Given the description of an element on the screen output the (x, y) to click on. 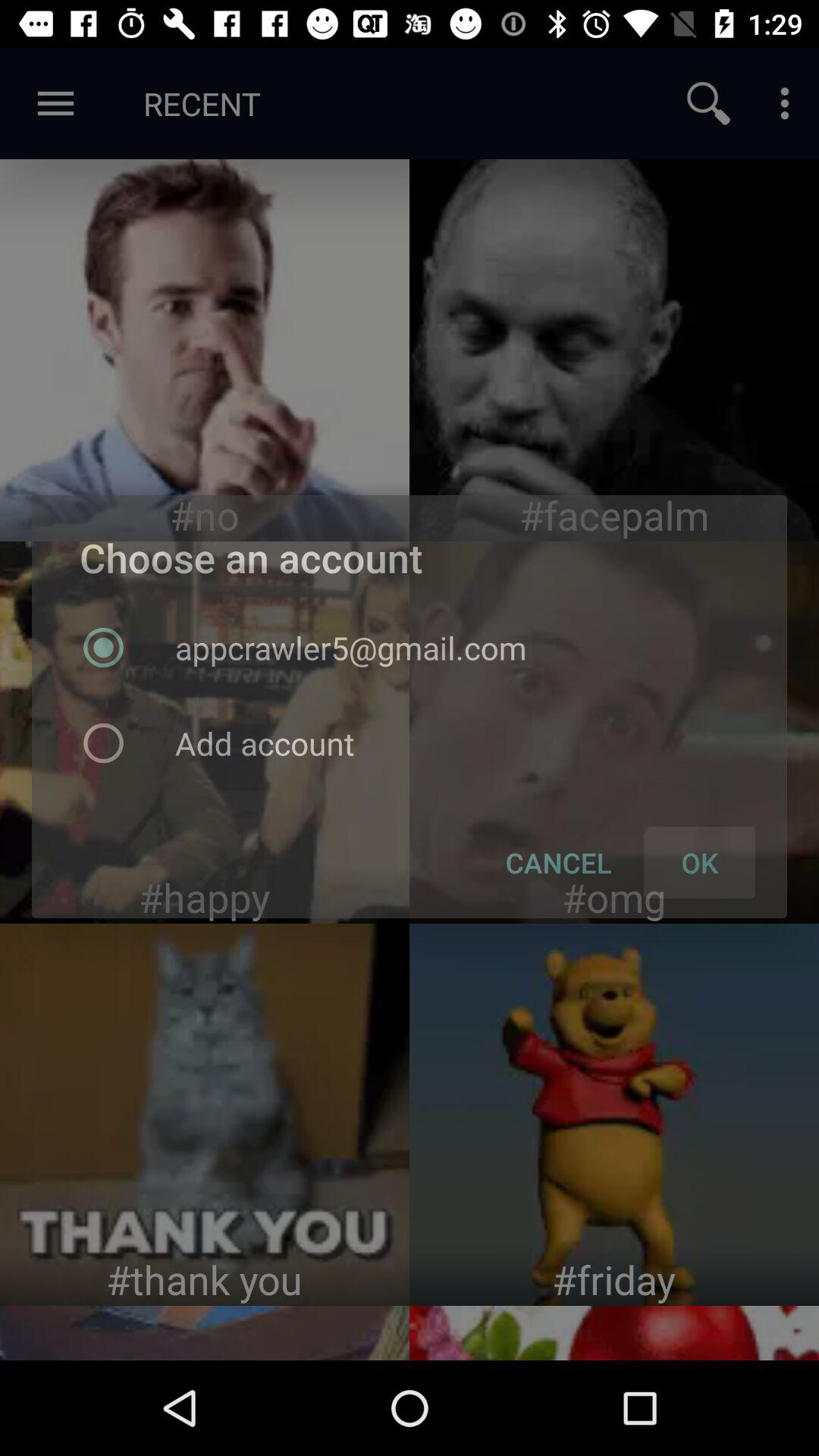
choose an account options (204, 732)
